Given the description of an element on the screen output the (x, y) to click on. 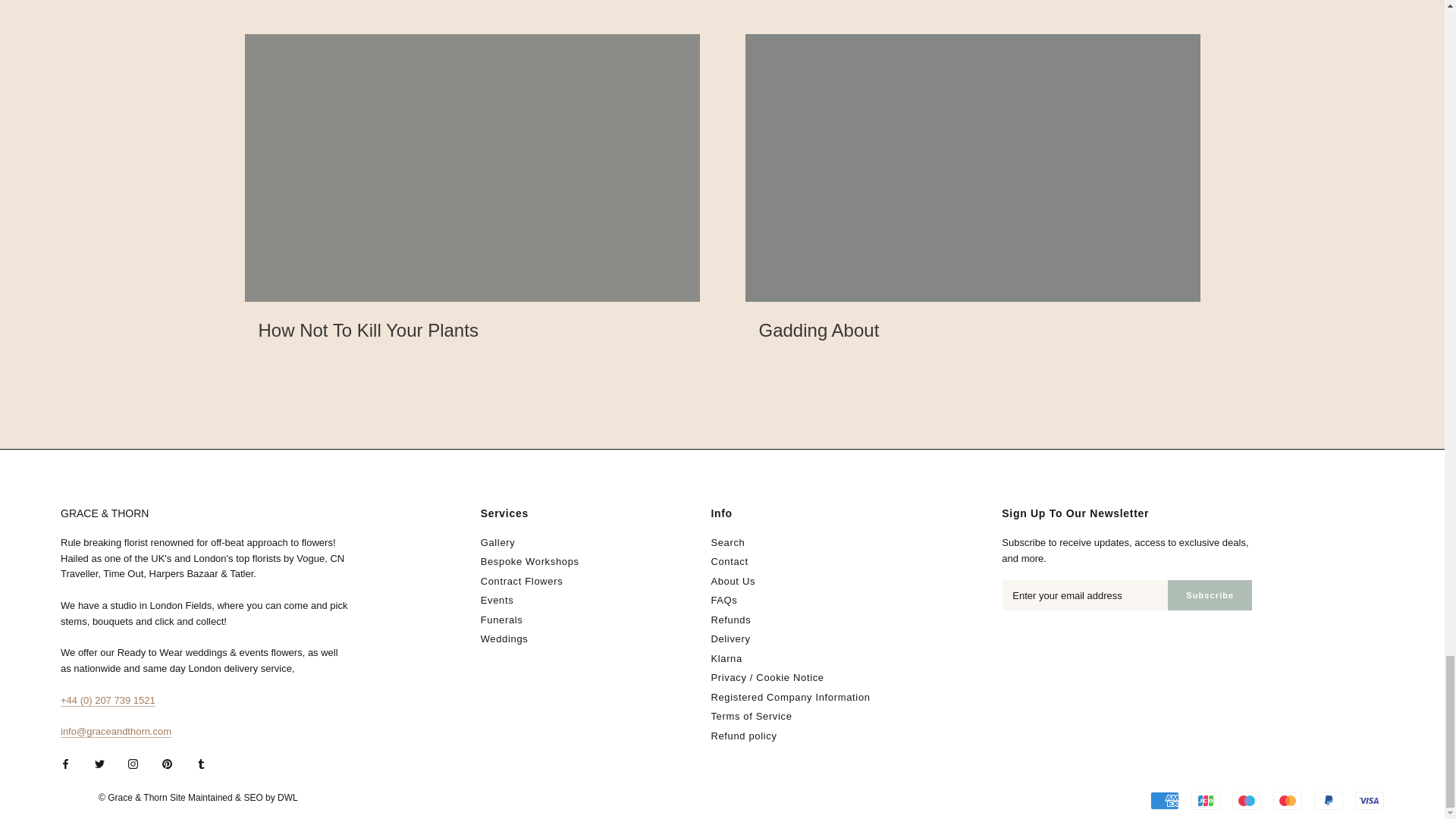
American Express (1164, 800)
Visa (1369, 800)
Mastercard (1286, 800)
Maestro (1245, 800)
JCB (1205, 800)
PayPal (1328, 800)
